Given the description of an element on the screen output the (x, y) to click on. 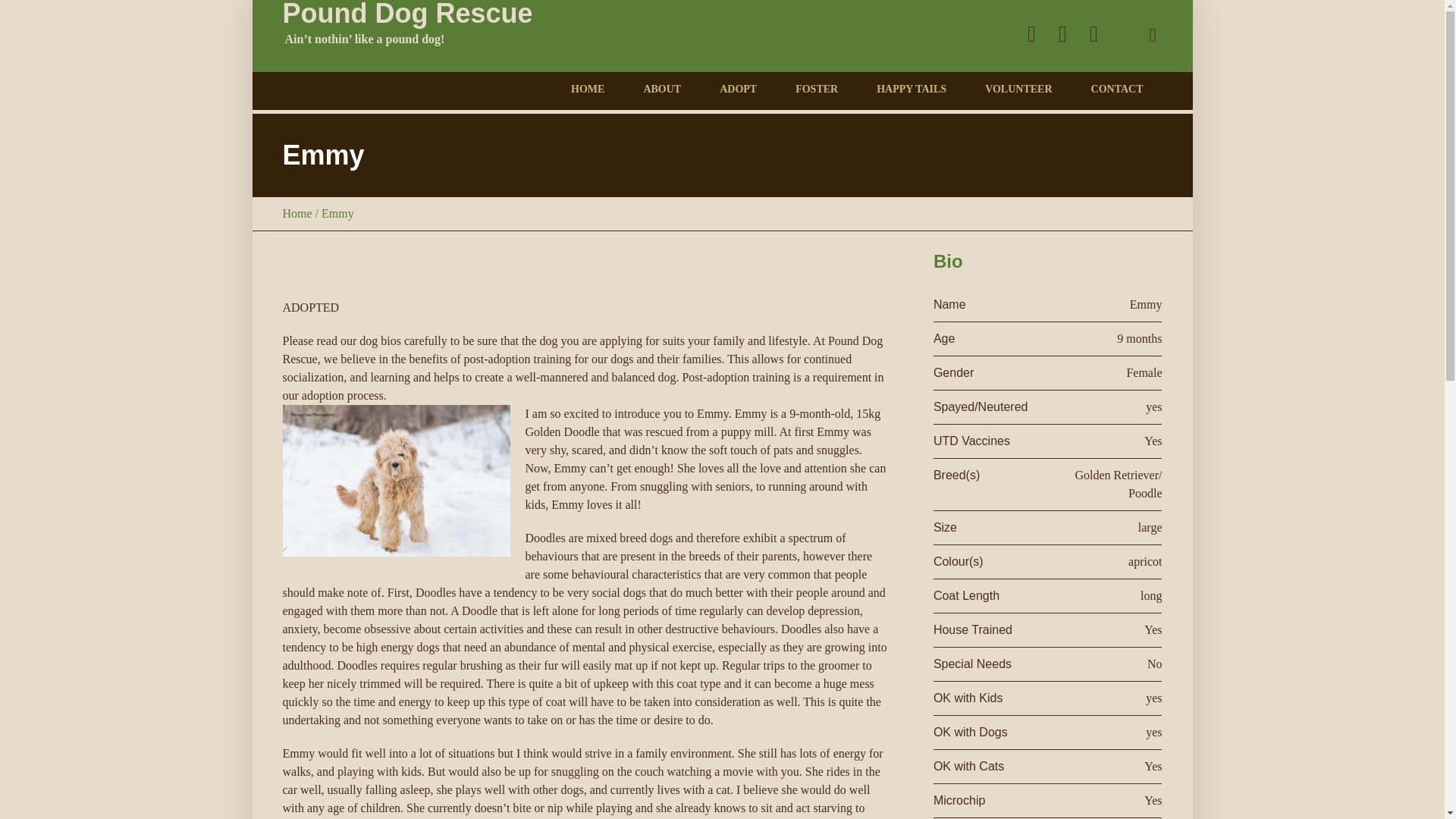
HOME (587, 89)
Instgram (1094, 33)
FOSTER (816, 89)
Pound Dog Rescue (407, 36)
Home (296, 213)
Twitter (1031, 33)
HAPPY TAILS (911, 89)
ADOPT (738, 89)
VOLUNTEER (1017, 89)
Facebook (1062, 33)
ABOUT (661, 89)
CONTACT (1116, 89)
